Given the description of an element on the screen output the (x, y) to click on. 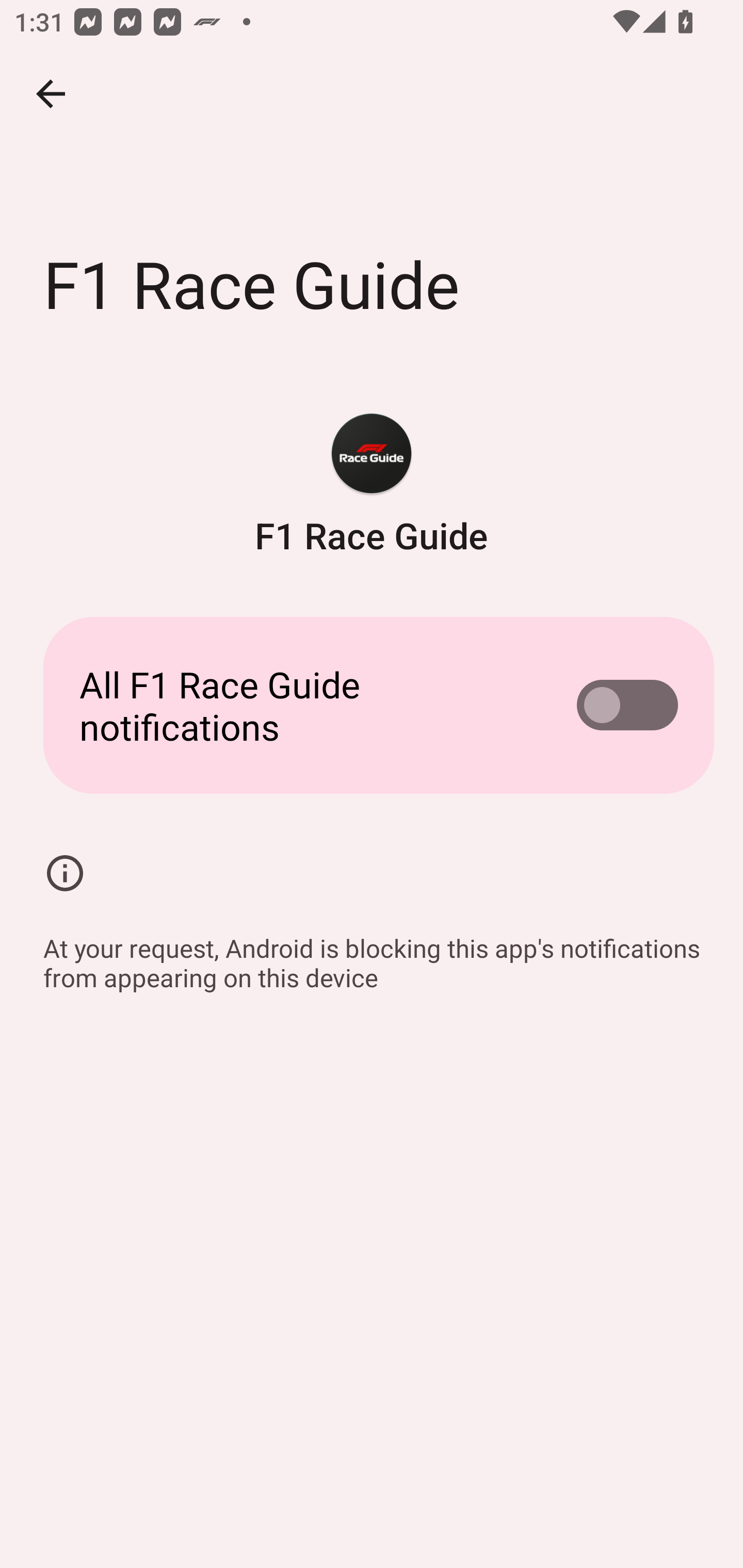
Navigate up (50, 93)
F1 Race Guide (371, 484)
All F1 Race Guide notifications (371, 705)
